Given the description of an element on the screen output the (x, y) to click on. 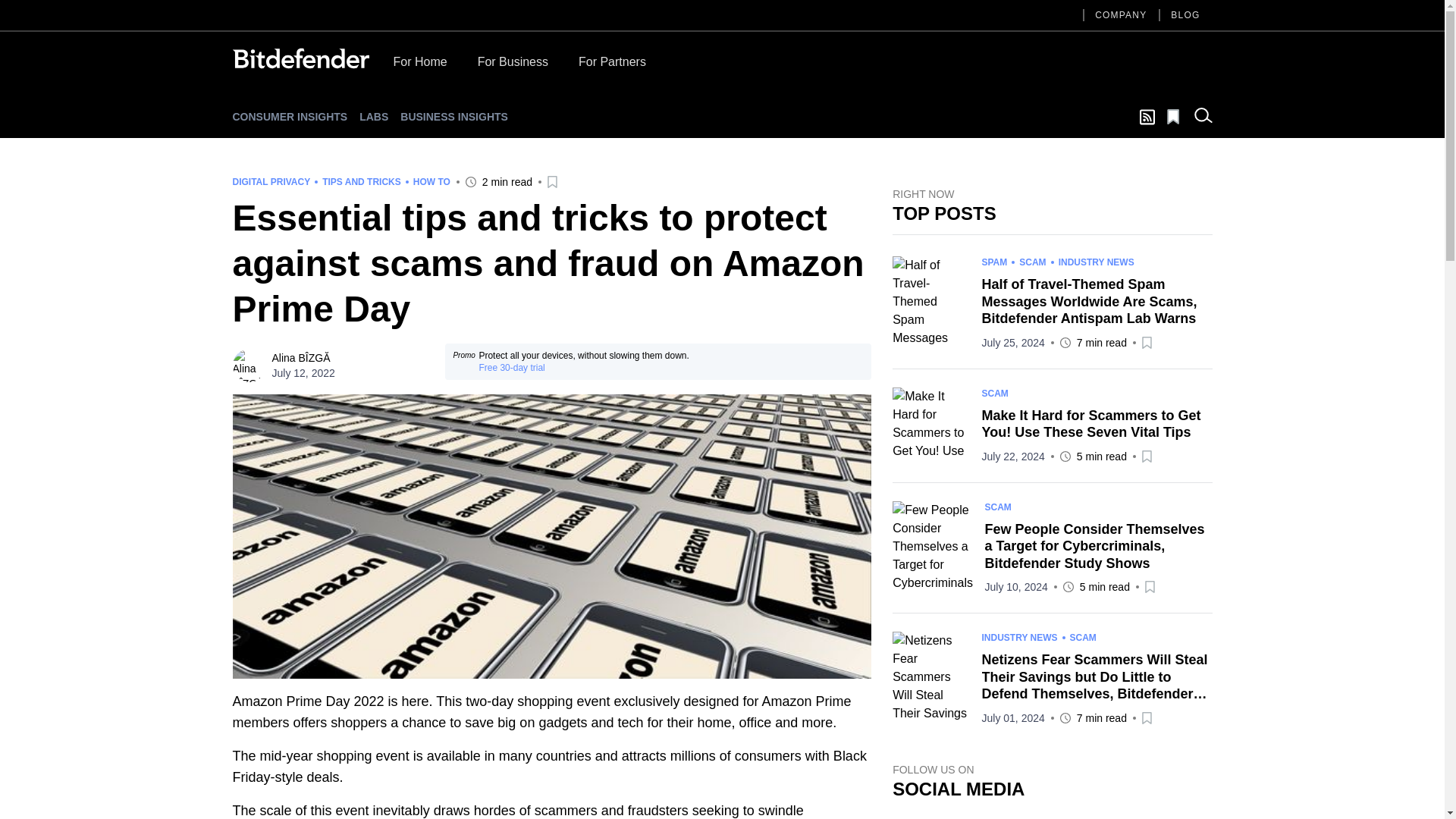
LABS (373, 116)
For Partners (612, 64)
Business Insights (454, 116)
COMPANY (1120, 15)
DIGITAL PRIVACY (270, 182)
Labs (373, 116)
SCAM (1032, 262)
Digital Privacy (270, 182)
SPAM (994, 262)
BUSINESS INSIGHTS (454, 116)
